Given the description of an element on the screen output the (x, y) to click on. 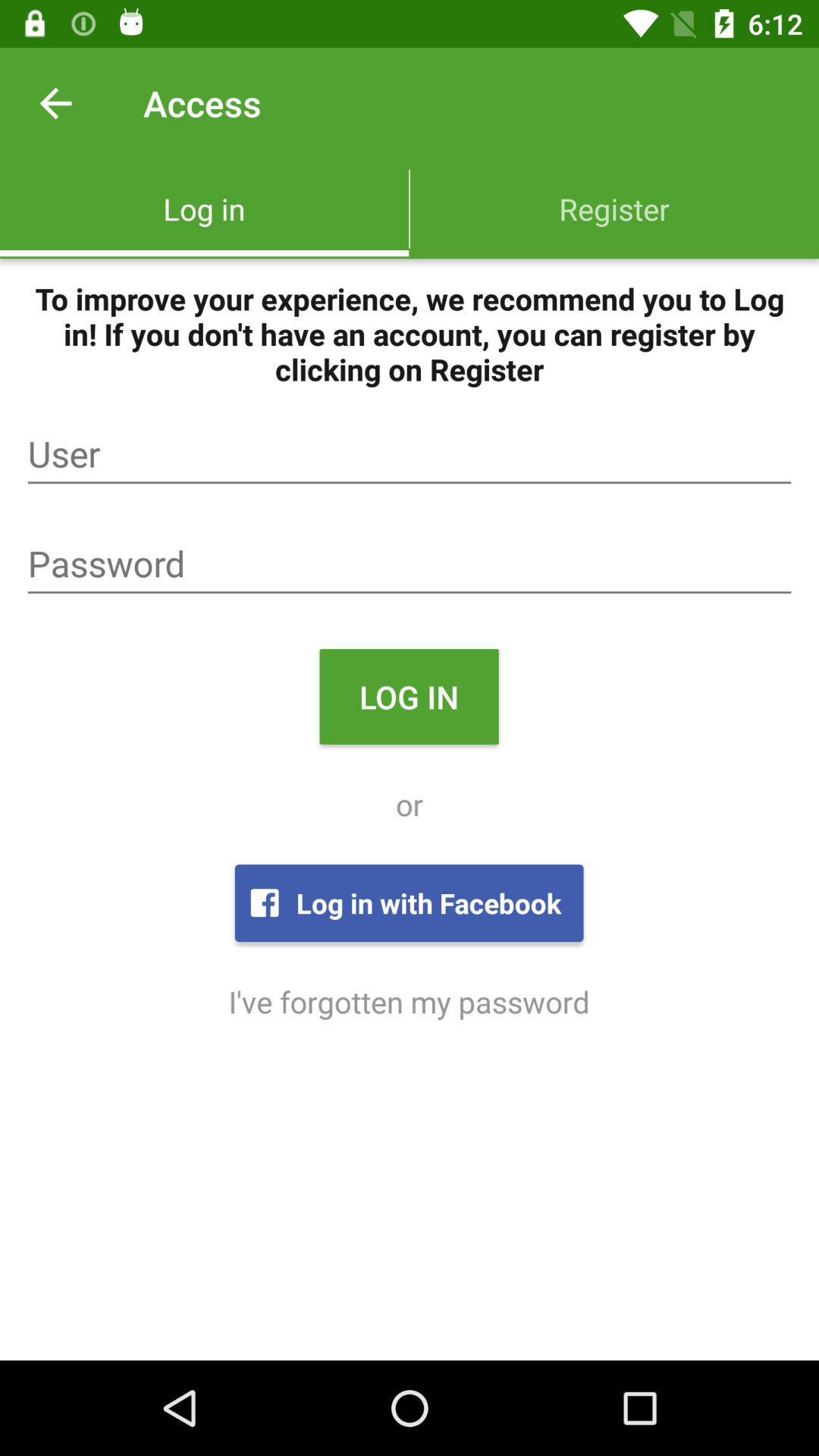
enable text input (409, 564)
